Given the description of an element on the screen output the (x, y) to click on. 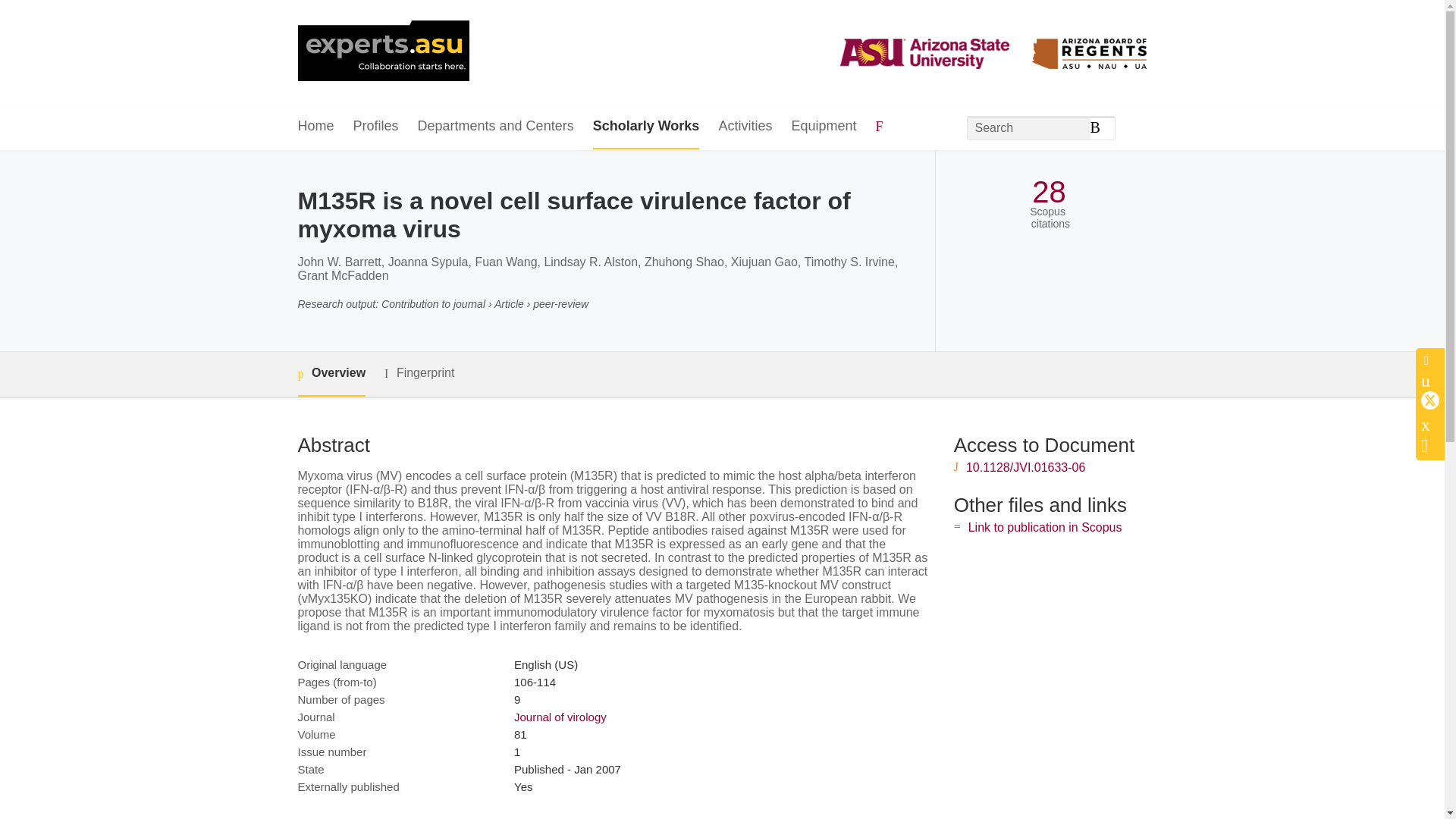
Journal of virology (560, 716)
Fingerprint (419, 373)
Arizona State University Home (382, 52)
Profiles (375, 126)
Scholarly Works (646, 126)
Activities (744, 126)
Departments and Centers (495, 126)
Overview (331, 374)
Link to publication in Scopus (1045, 526)
